Given the description of an element on the screen output the (x, y) to click on. 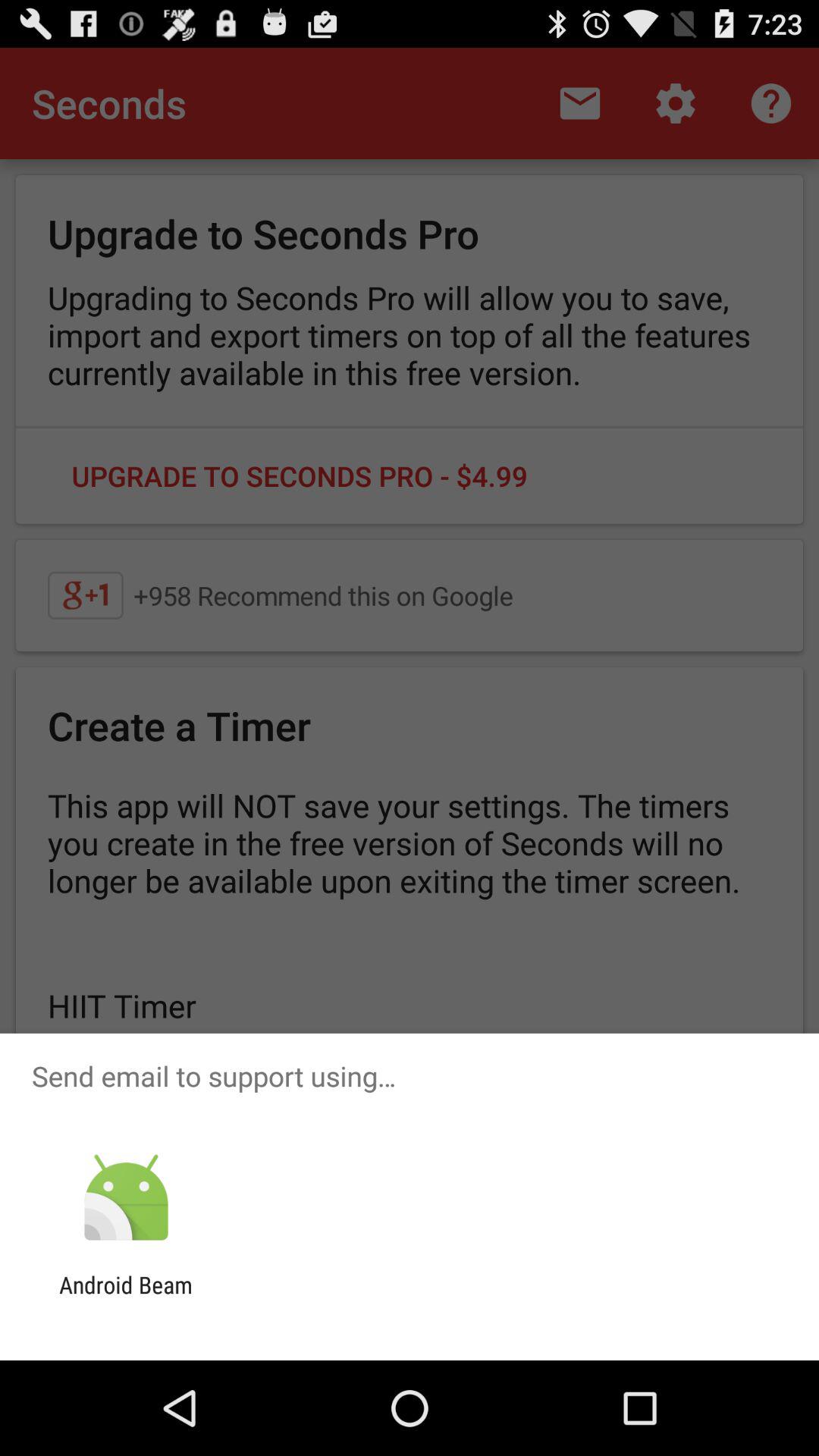
turn off the android beam item (125, 1298)
